Given the description of an element on the screen output the (x, y) to click on. 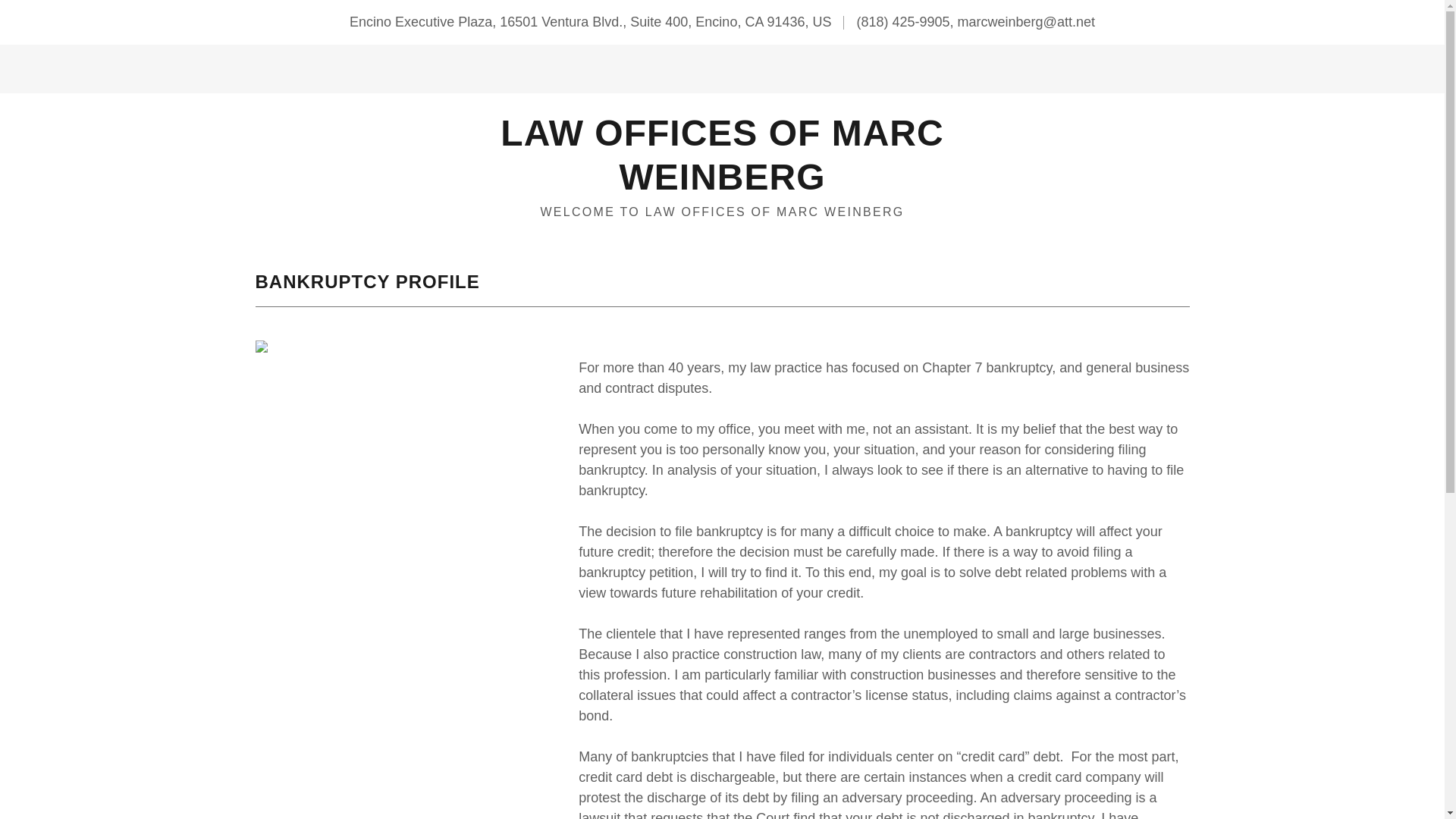
Law Offices of Marc Weinberg (721, 184)
LAW OFFICES OF MARC WEINBERG (721, 184)
